Given the description of an element on the screen output the (x, y) to click on. 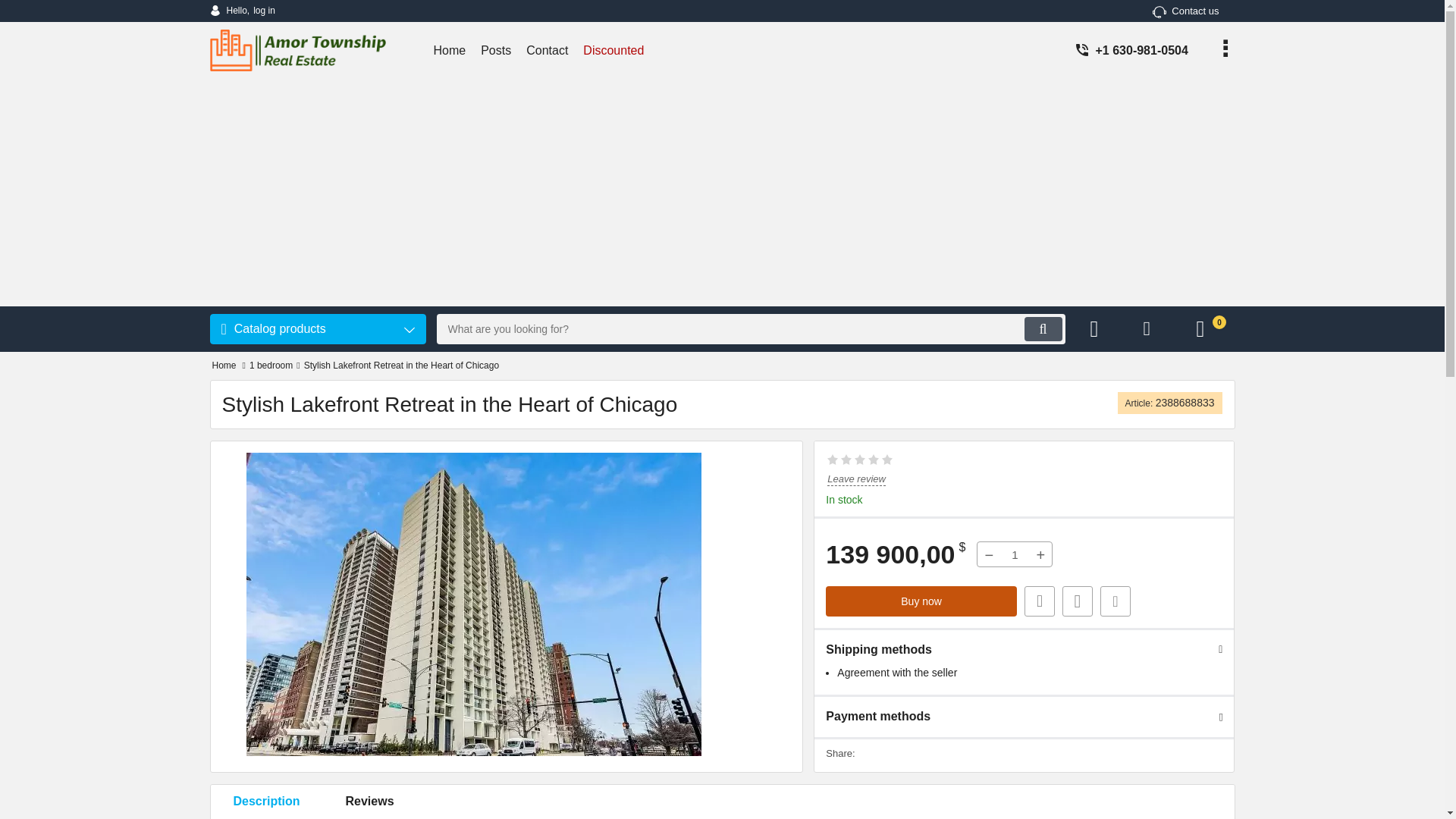
Fast Order (1039, 601)
Home (223, 365)
Contact us (1185, 10)
Description (267, 801)
Home (450, 50)
Reviews (369, 801)
Leave review (856, 479)
Discounted (612, 50)
